Given the description of an element on the screen output the (x, y) to click on. 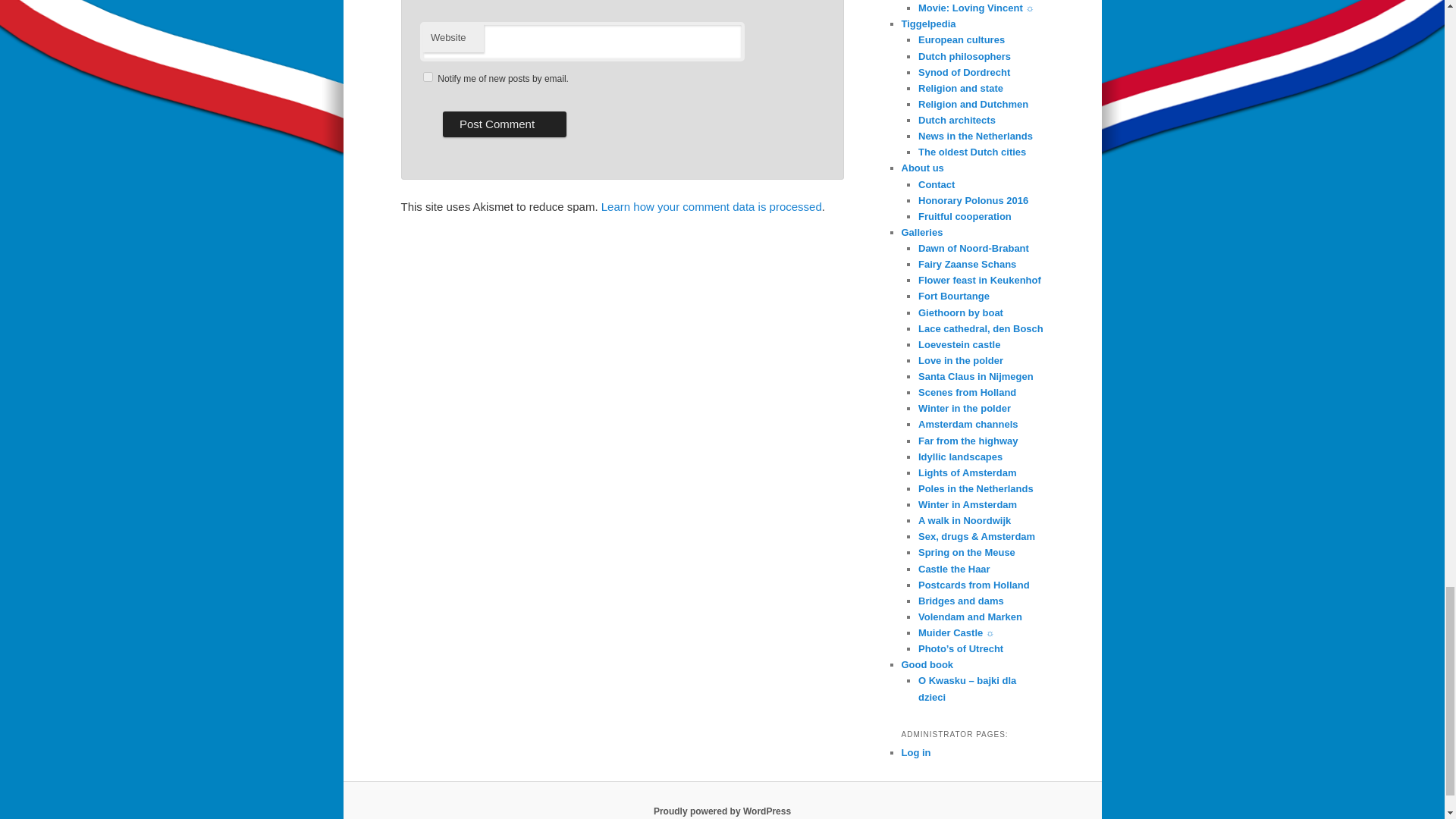
Semantic Personal Publishing Platform (721, 810)
Post Comment (504, 124)
subscribe (427, 76)
